Given the description of an element on the screen output the (x, y) to click on. 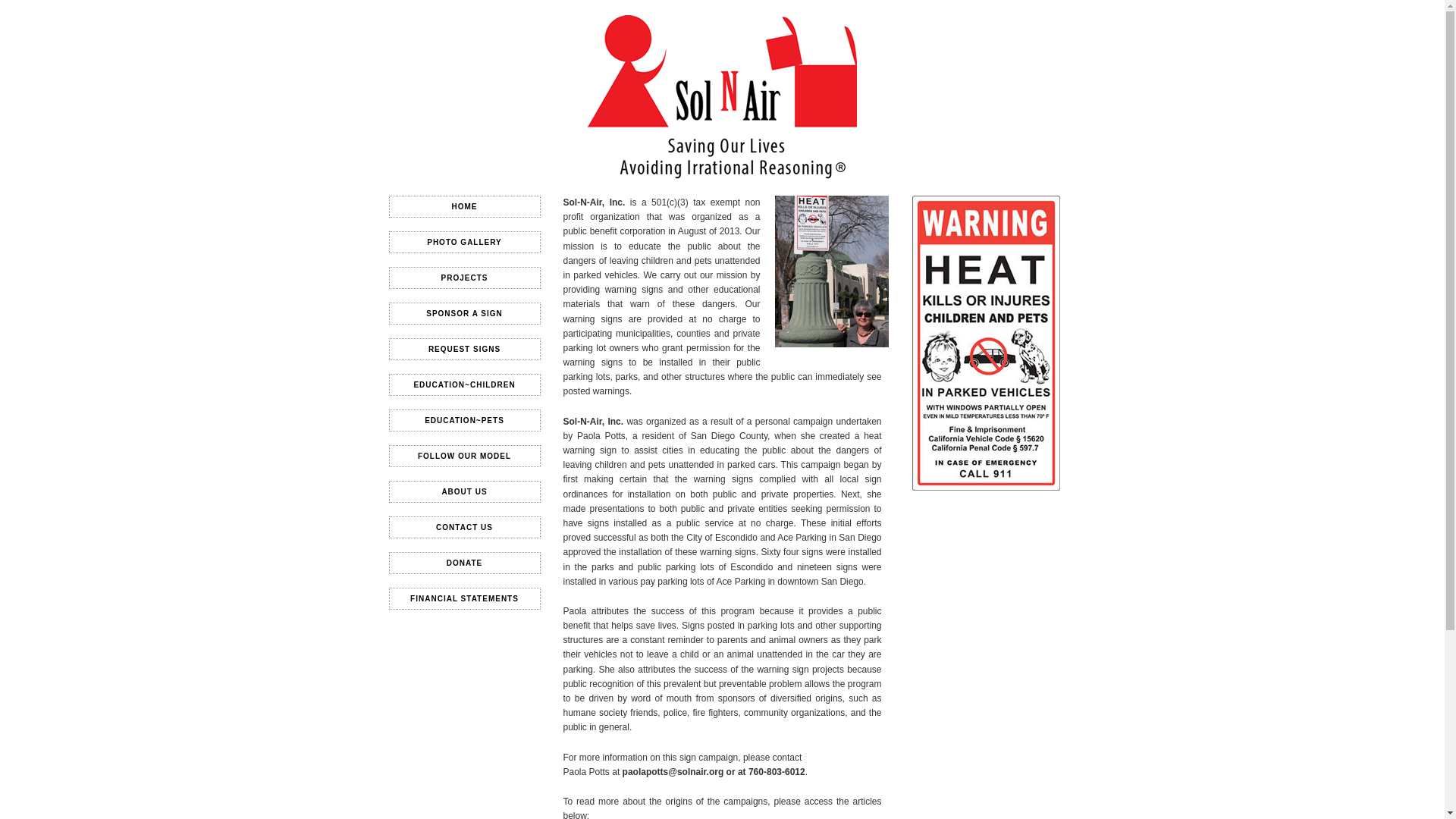
FOLLOW OUR MODEL (464, 455)
FINANCIAL STATEMENTS (464, 598)
DONATE (464, 563)
HOME (464, 206)
REQUEST SIGNS (464, 349)
PROJECTS (464, 277)
CONTACT US (464, 527)
PHOTO GALLERY (464, 241)
ABOUT US (464, 491)
SPONSOR A SIGN (464, 313)
